Given the description of an element on the screen output the (x, y) to click on. 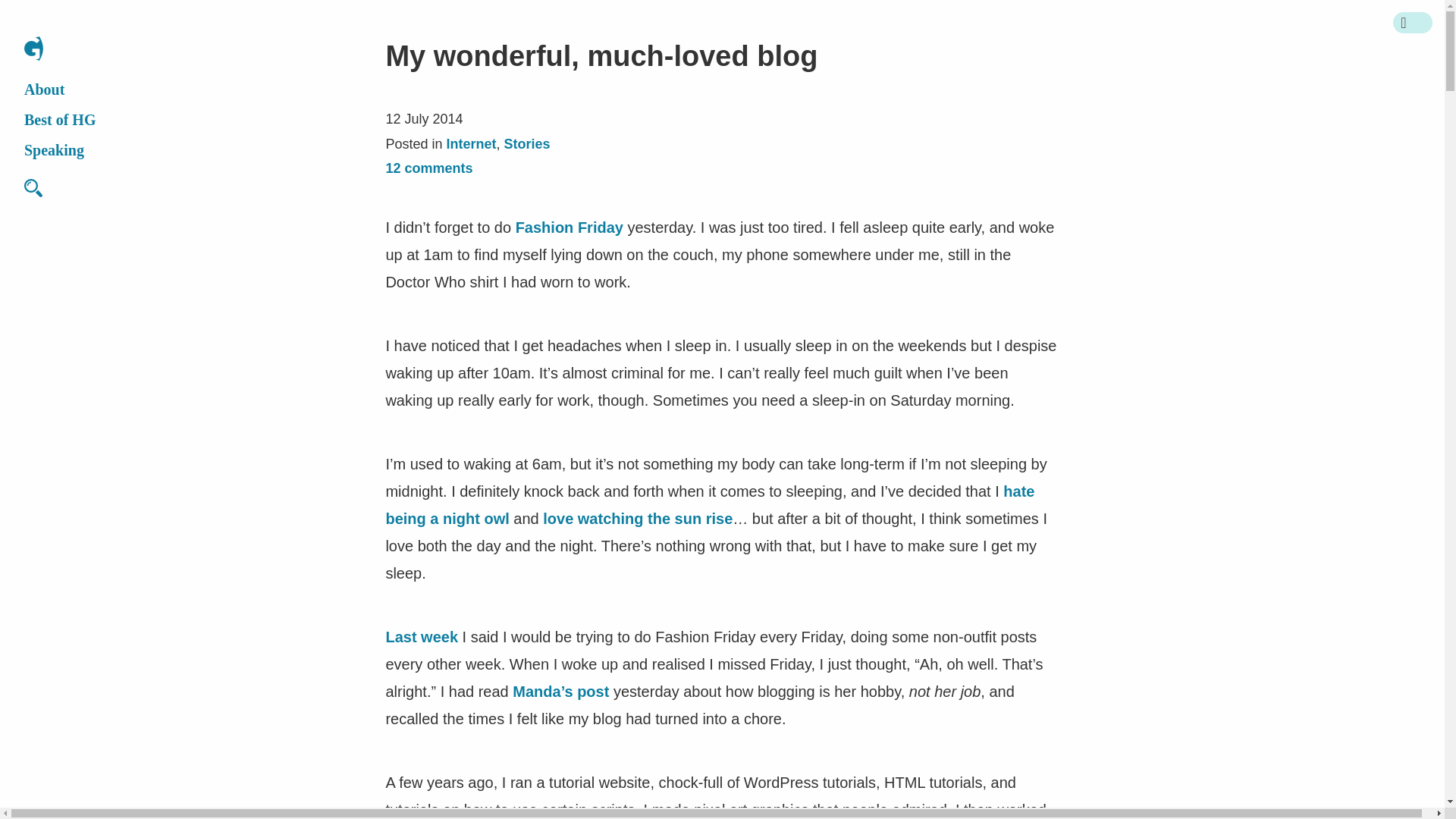
Last week (421, 636)
Fashion Friday (569, 227)
Internet (470, 143)
Speaking (54, 149)
Skip to content (54, 24)
About Georgie, the author of this blog (44, 89)
hate being a night owl (709, 505)
12 comments (428, 168)
love watching the sun rise (637, 518)
About (44, 89)
